Given the description of an element on the screen output the (x, y) to click on. 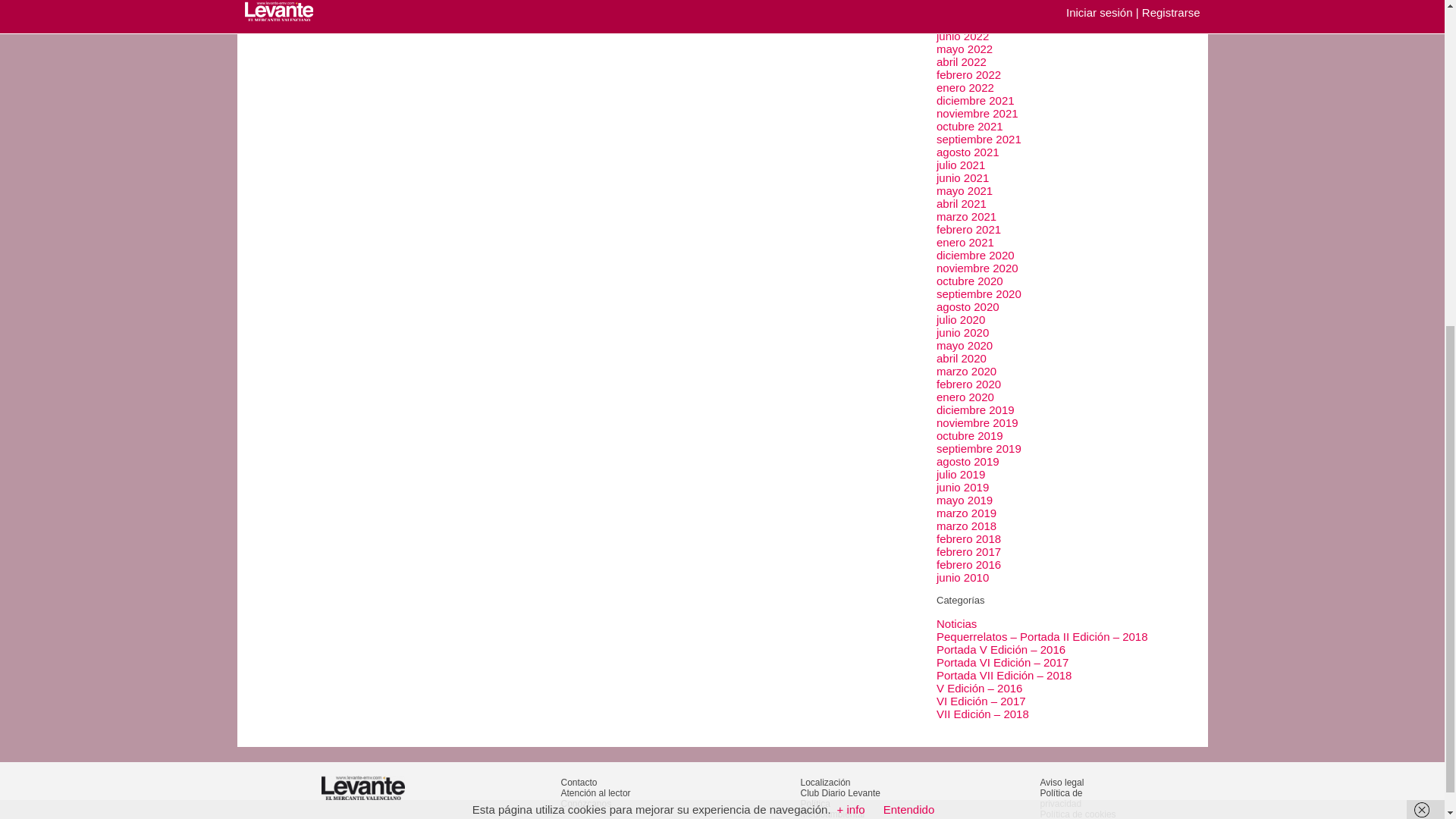
abril 2022 (961, 61)
junio 2022 (962, 35)
enero 2022 (965, 87)
febrero 2022 (968, 74)
Aviso Legal (1062, 782)
julio 2022 (960, 22)
Contacto (578, 782)
Club Diario Levante (840, 792)
octubre 2021 (969, 125)
agosto 2022 (967, 10)
